Given the description of an element on the screen output the (x, y) to click on. 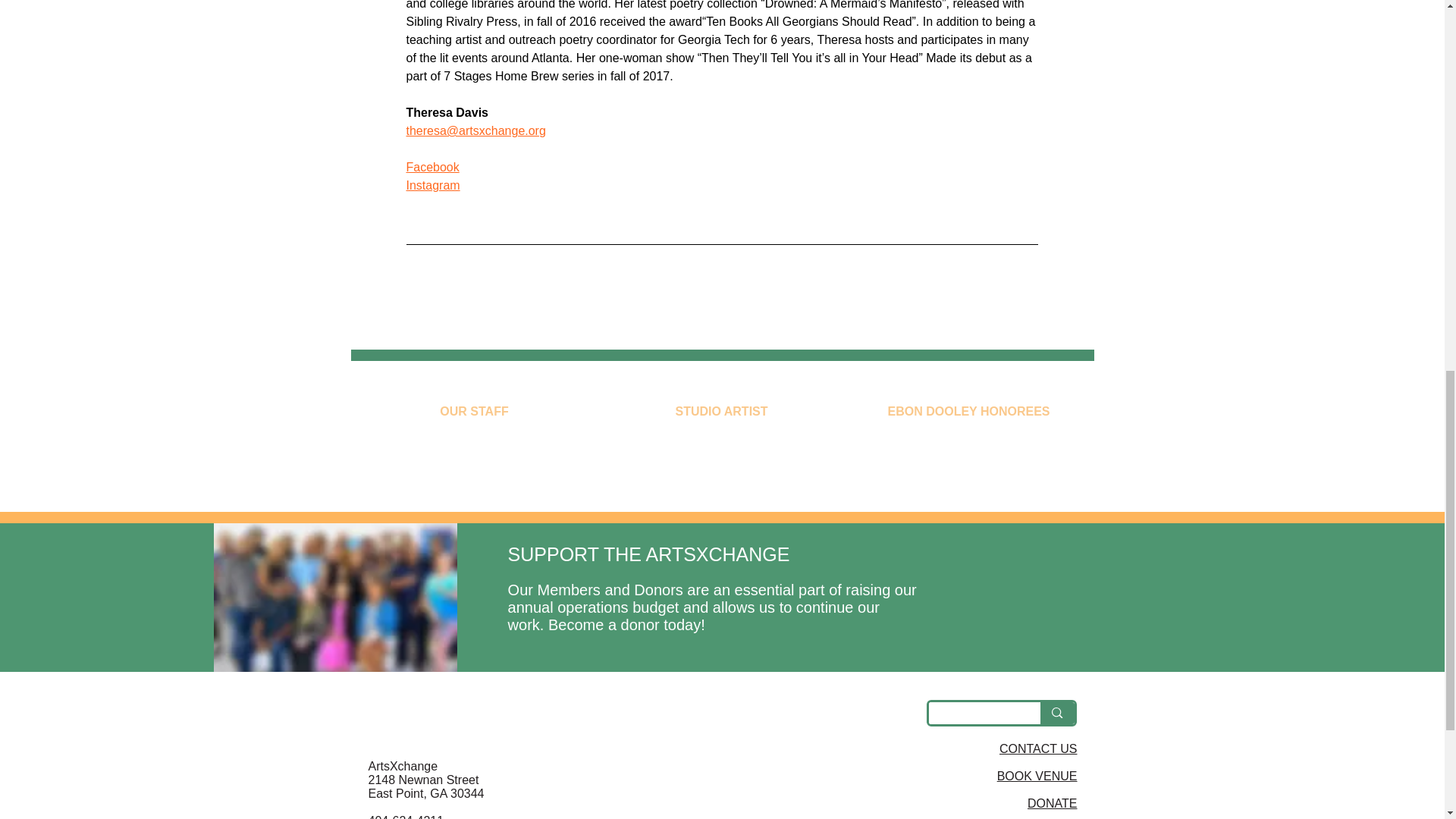
Facebook (433, 166)
